Given the description of an element on the screen output the (x, y) to click on. 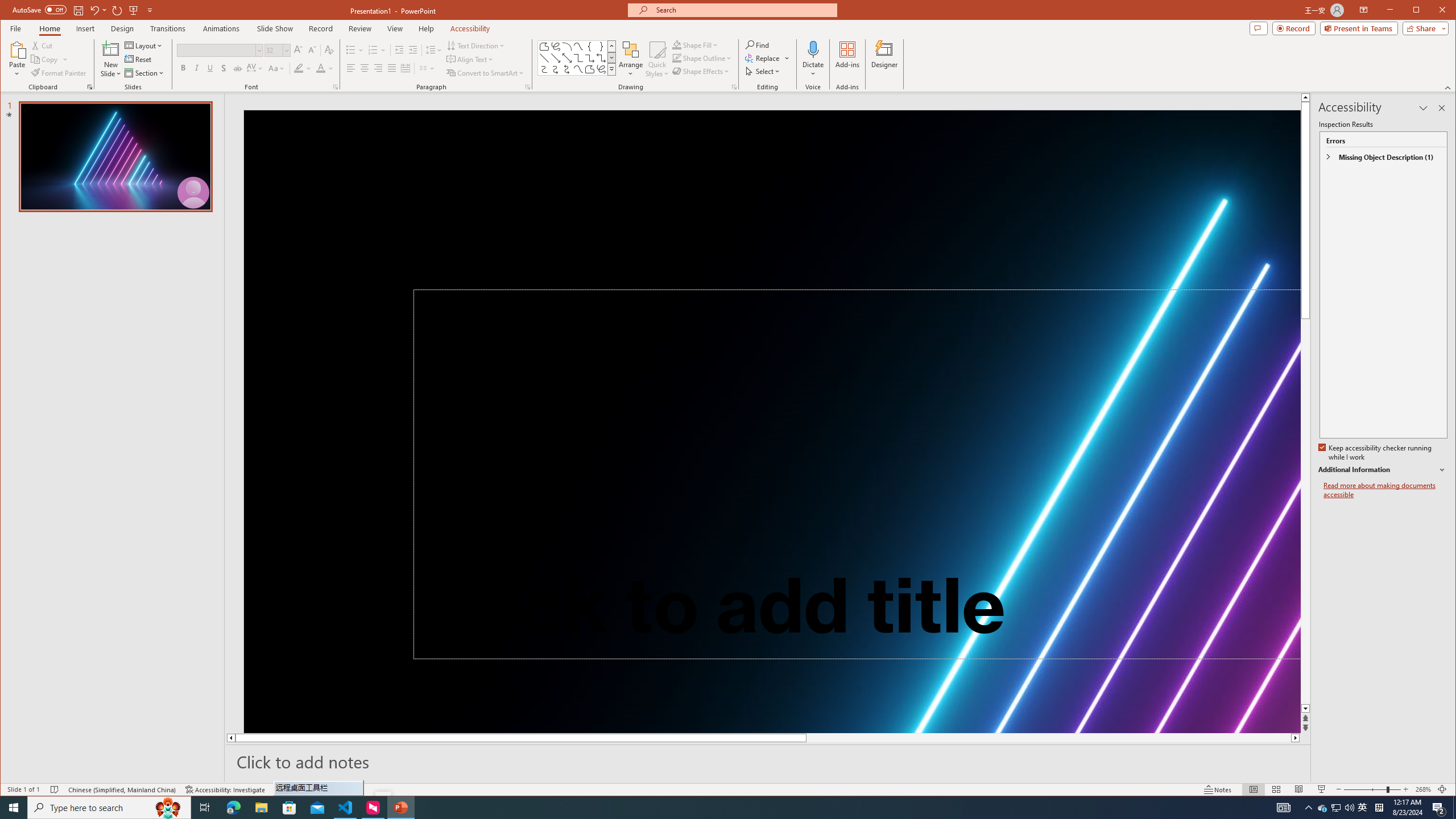
Line Arrow: Double (567, 57)
Connector: Curved (544, 69)
